Given the description of an element on the screen output the (x, y) to click on. 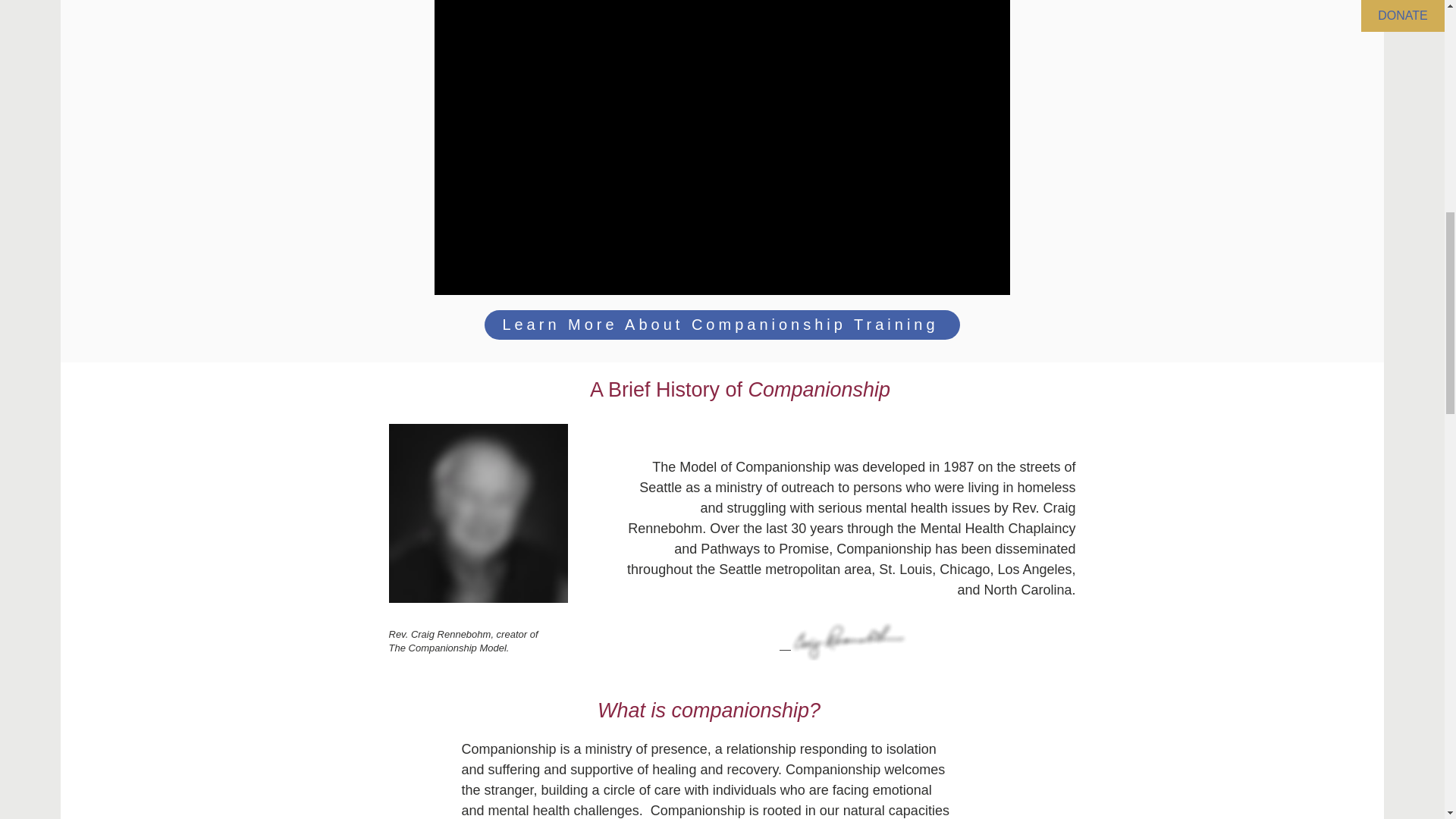
Learn More About Companionship Training (721, 324)
